Given the description of an element on the screen output the (x, y) to click on. 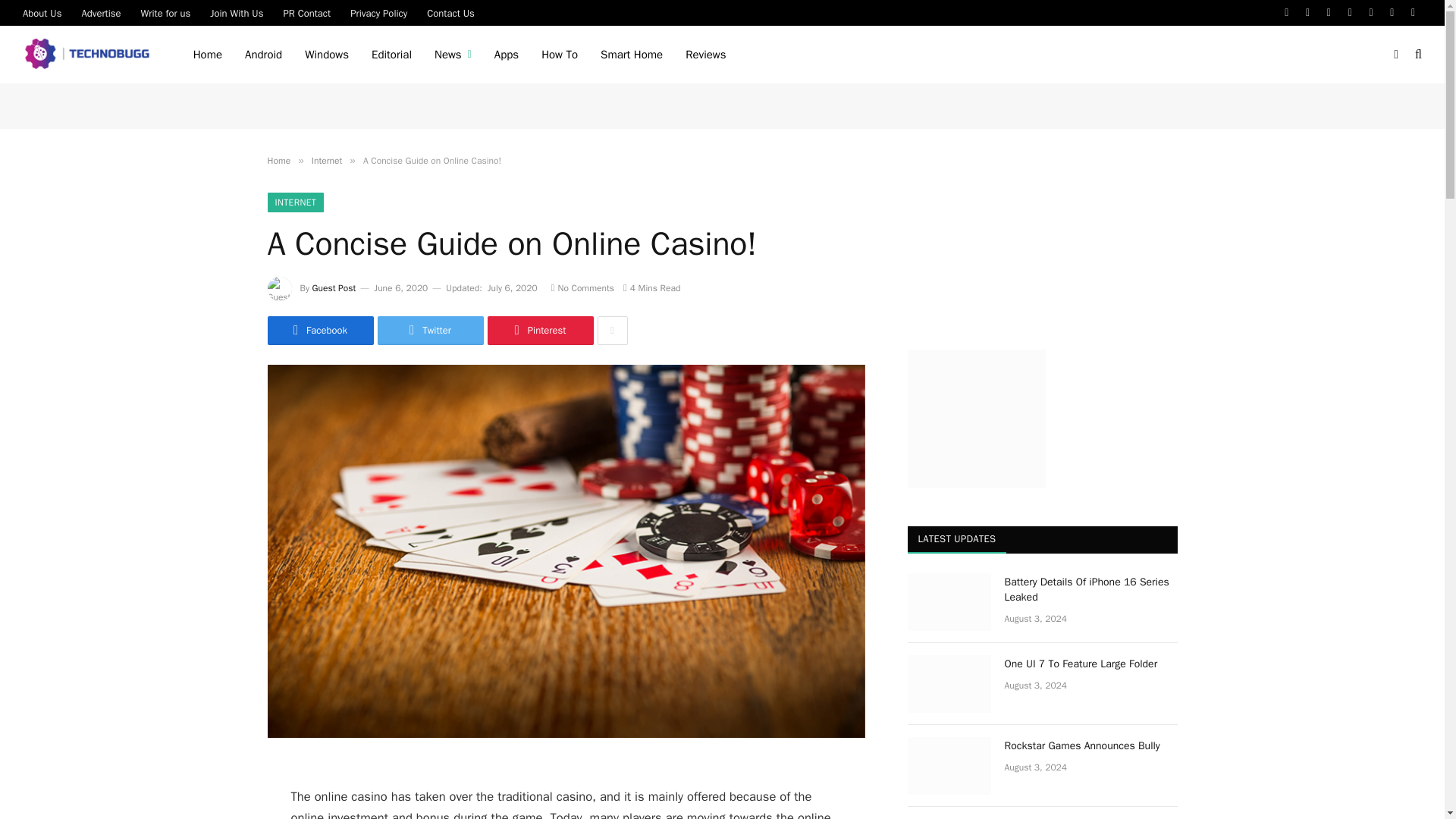
Reviews (705, 54)
Privacy Policy (378, 12)
Show More Social Sharing (611, 330)
Join With Us (236, 12)
News (453, 54)
TechnoBugg (89, 54)
Share on Facebook (319, 330)
Windows (326, 54)
Contact Us (450, 12)
Write for us (165, 12)
